Given the description of an element on the screen output the (x, y) to click on. 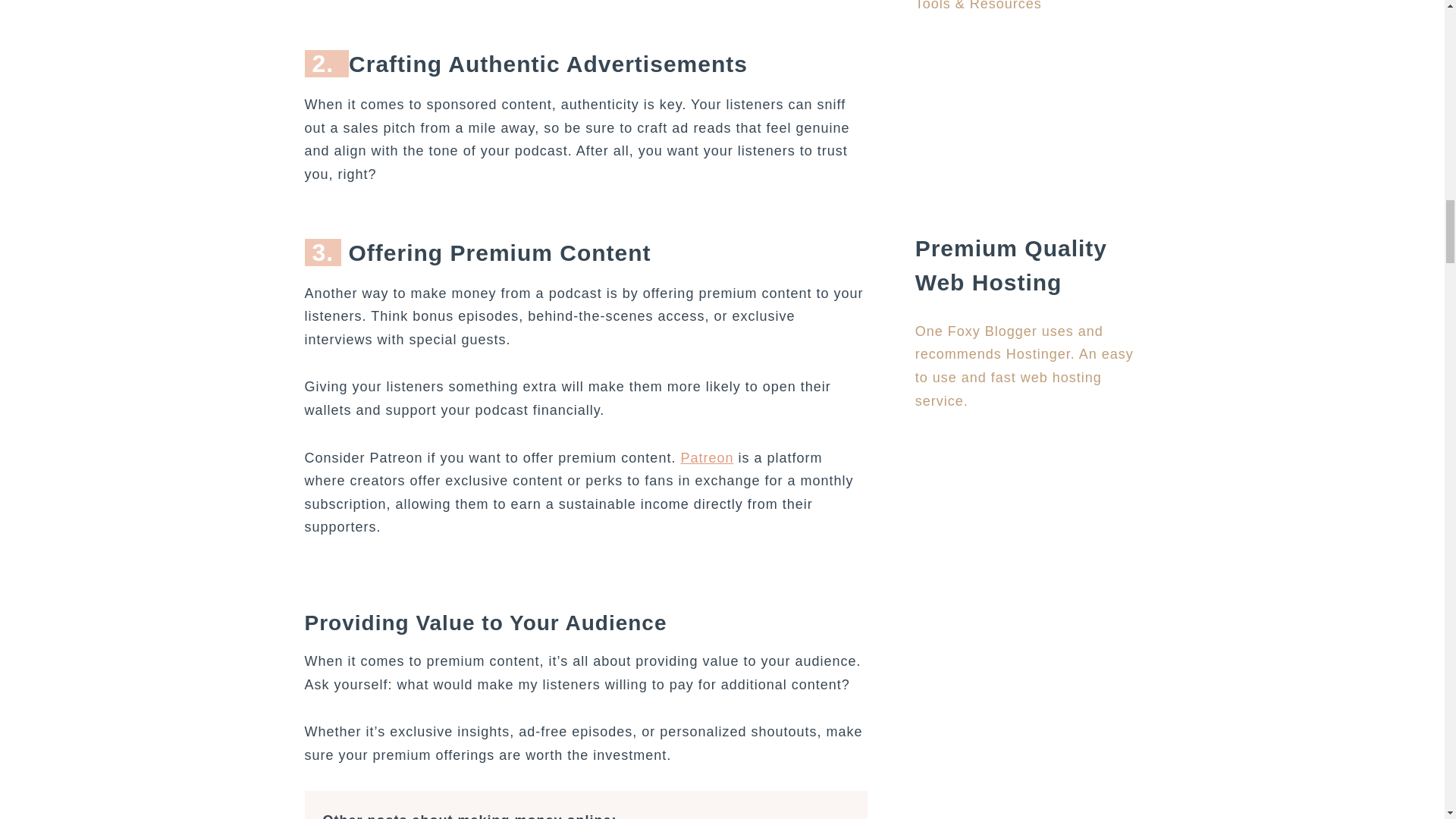
Patreon (706, 458)
